Given the description of an element on the screen output the (x, y) to click on. 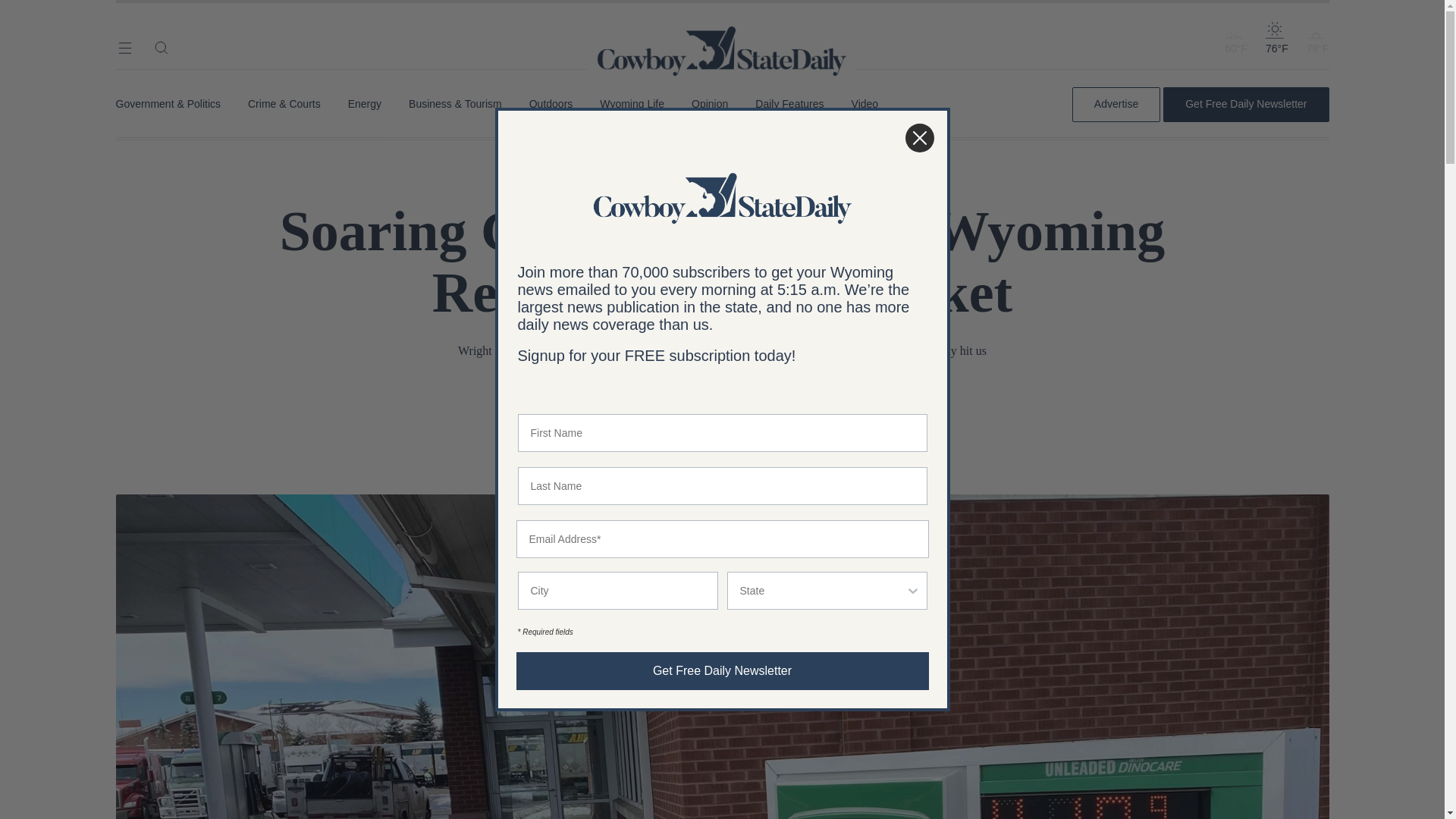
Go to homepage (721, 30)
Wyoming Life (631, 104)
Close dialog 1 (919, 137)
Daily Features (789, 104)
Get Free Daily Newsletter (1245, 104)
Advertise (1115, 104)
Menu (124, 47)
Search (160, 47)
